Given the description of an element on the screen output the (x, y) to click on. 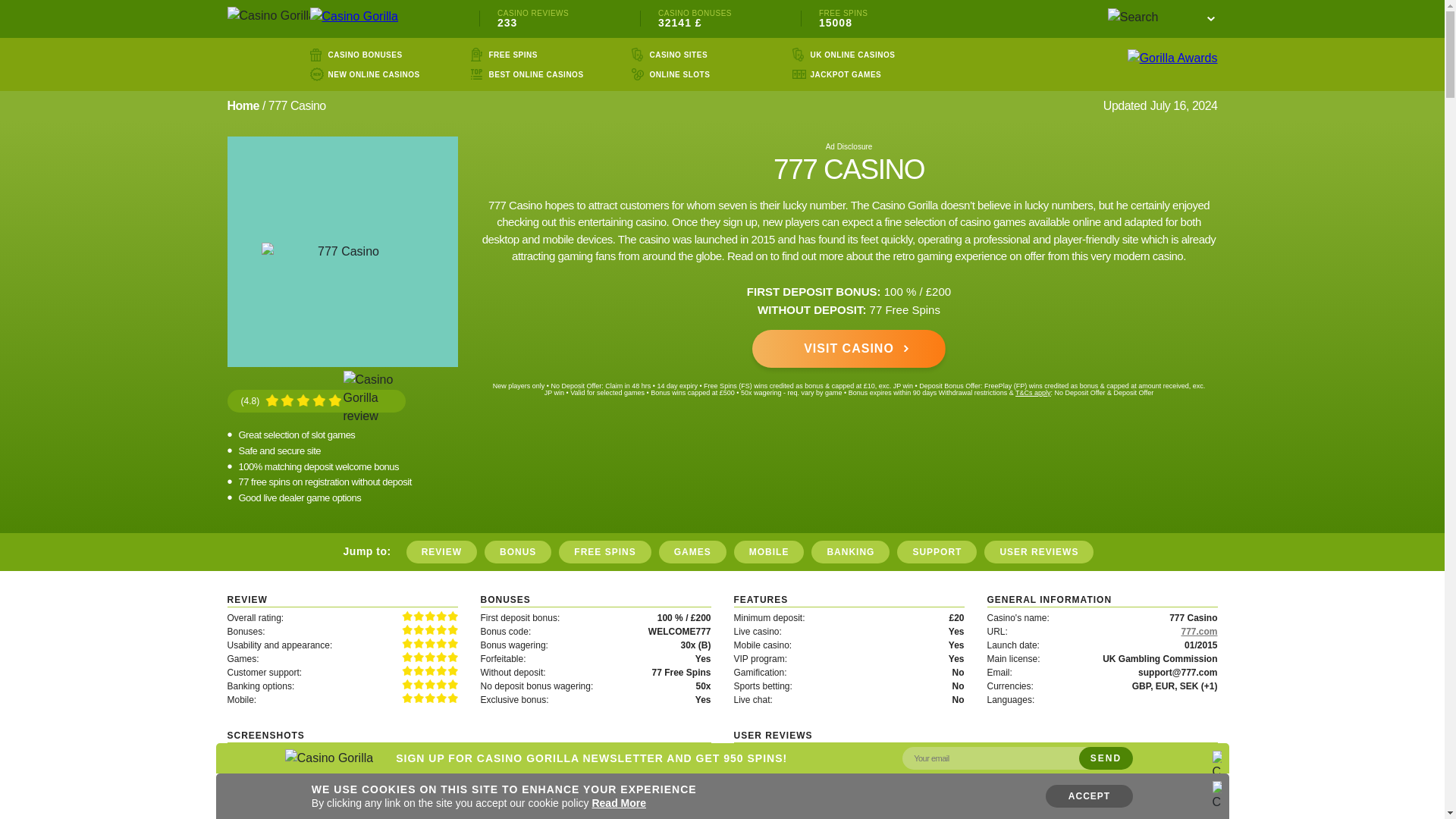
BEST ONLINE CASINOS (535, 74)
BONUS (517, 551)
GAMES (692, 551)
VISIT CASINO (848, 348)
Free Spins (512, 54)
CASINO BONUSES (364, 54)
UK Online Casinos (852, 54)
FREE SPINS (512, 54)
Home (243, 105)
FREE SPINS (604, 551)
Ad Disclosure (848, 146)
JACKPOT GAMES (844, 74)
CASINO SITES (678, 54)
Casino Sites (678, 54)
REVIEW (441, 551)
